Given the description of an element on the screen output the (x, y) to click on. 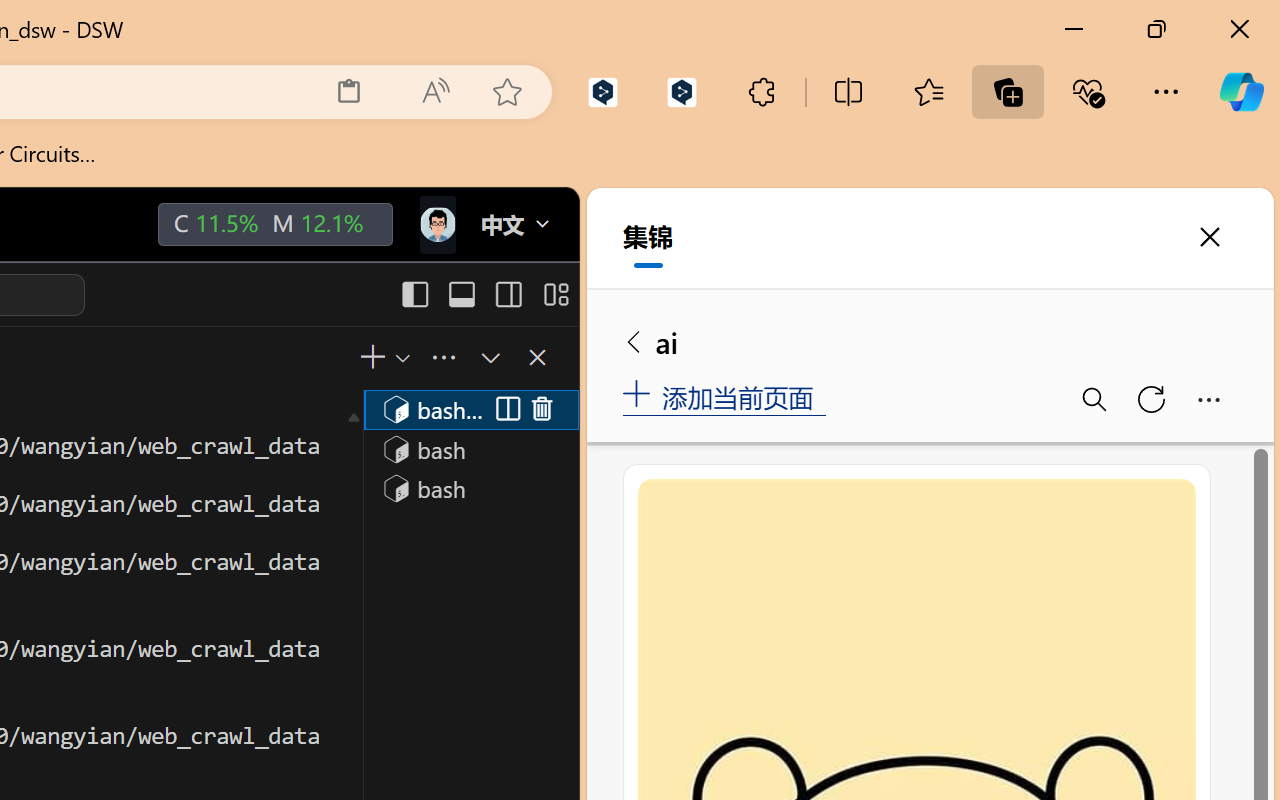
Kill (Delete) (541, 409)
Class: actions-container (523, 409)
Copilot (Ctrl+Shift+.) (1241, 91)
Split (Ctrl+Shift+5) (504, 409)
Restore Panel Size (488, 357)
Terminal 3 bash (470, 488)
